Given the description of an element on the screen output the (x, y) to click on. 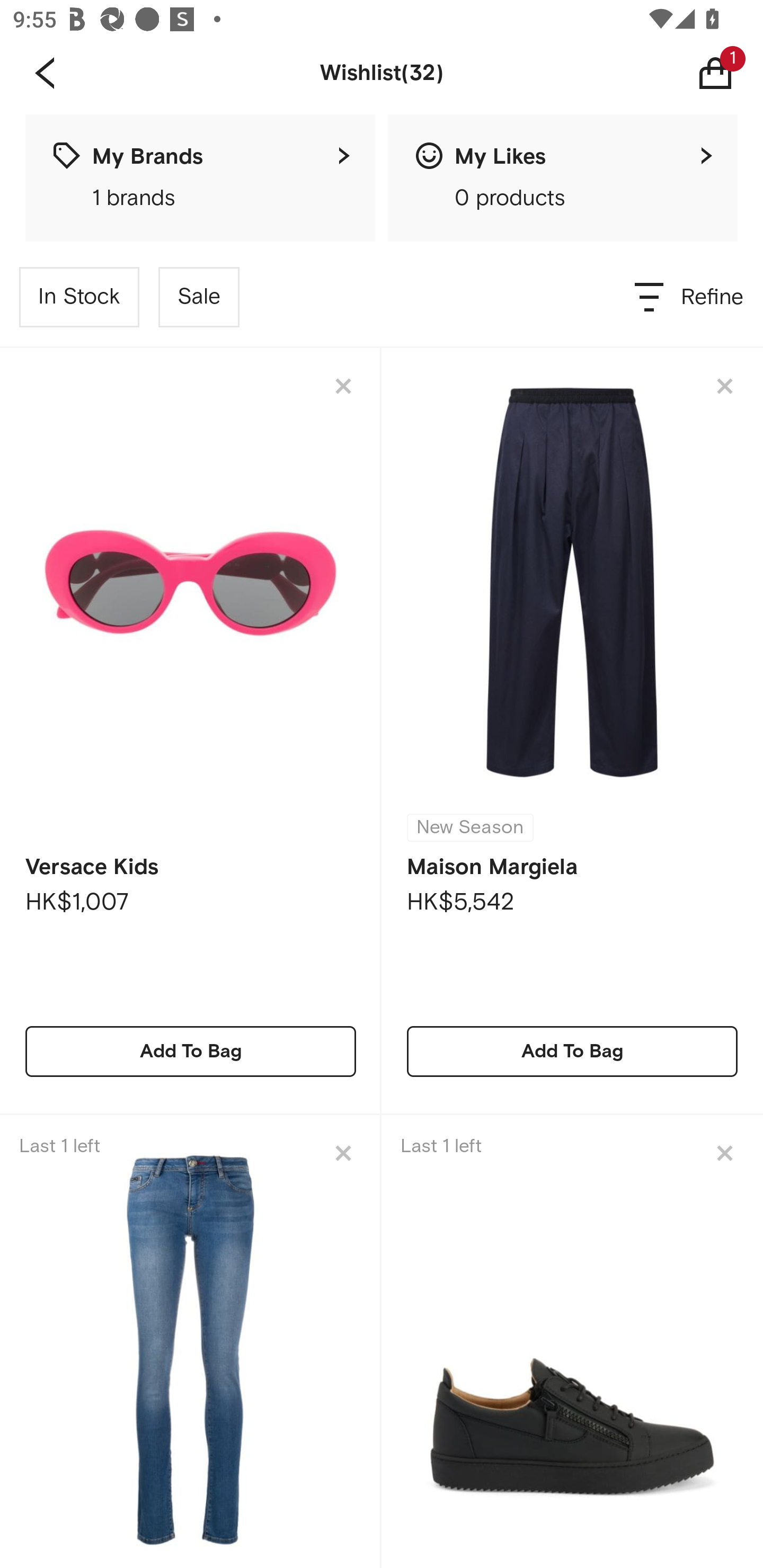
1 (729, 72)
My Brands 1 brands (200, 177)
My Likes 0 products (562, 177)
In Stock (79, 296)
Sale (198, 296)
Refine (690, 296)
Versace Kids HK$1,007 Add To Bag (190, 731)
New Season Maison Margiela HK$5,542 Add To Bag (572, 731)
Add To Bag (190, 1050)
Add To Bag (571, 1050)
Last 1 left (190, 1341)
Last 1 left (572, 1341)
